Given the description of an element on the screen output the (x, y) to click on. 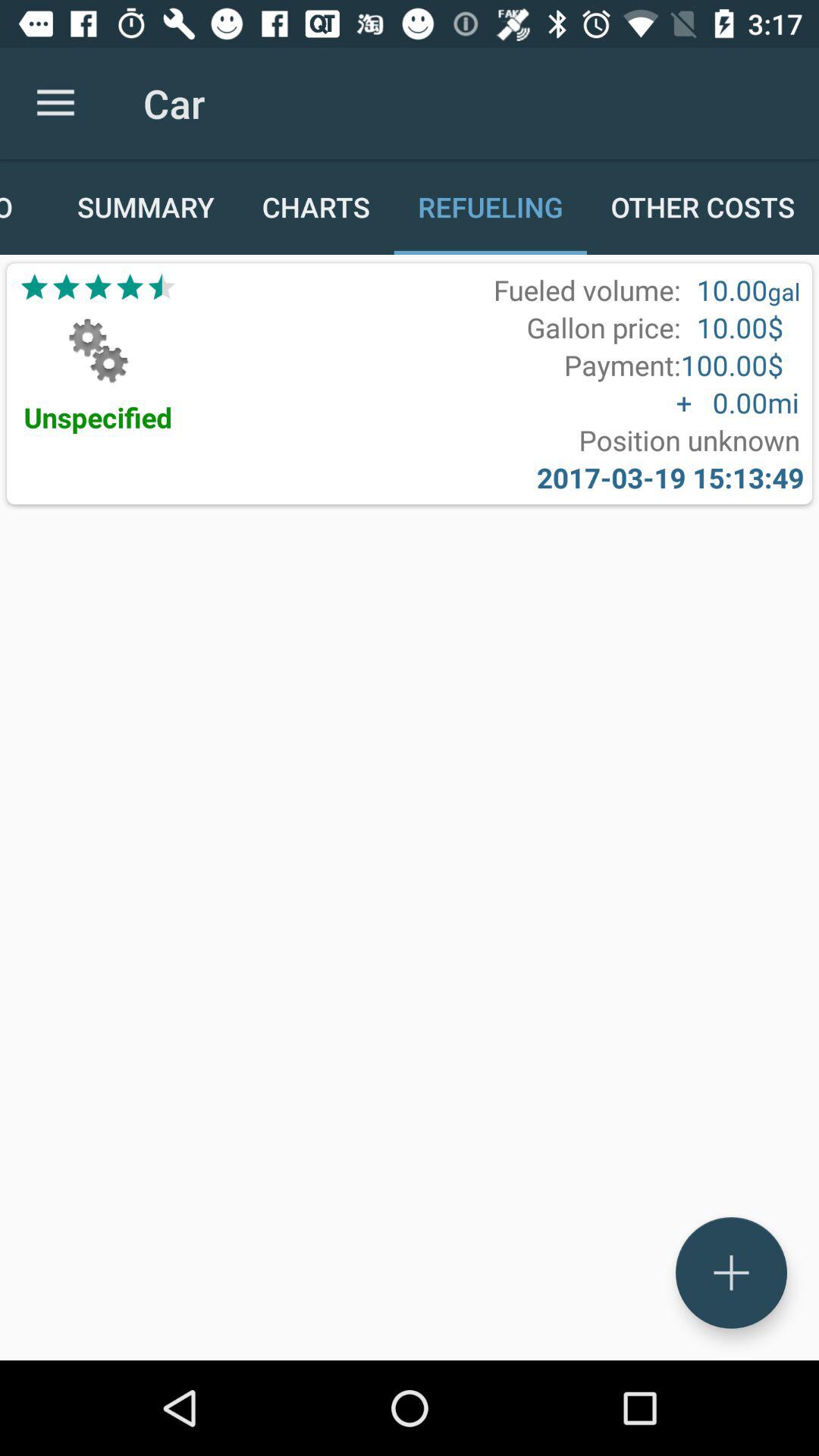
press position unknown item (689, 439)
